Given the description of an element on the screen output the (x, y) to click on. 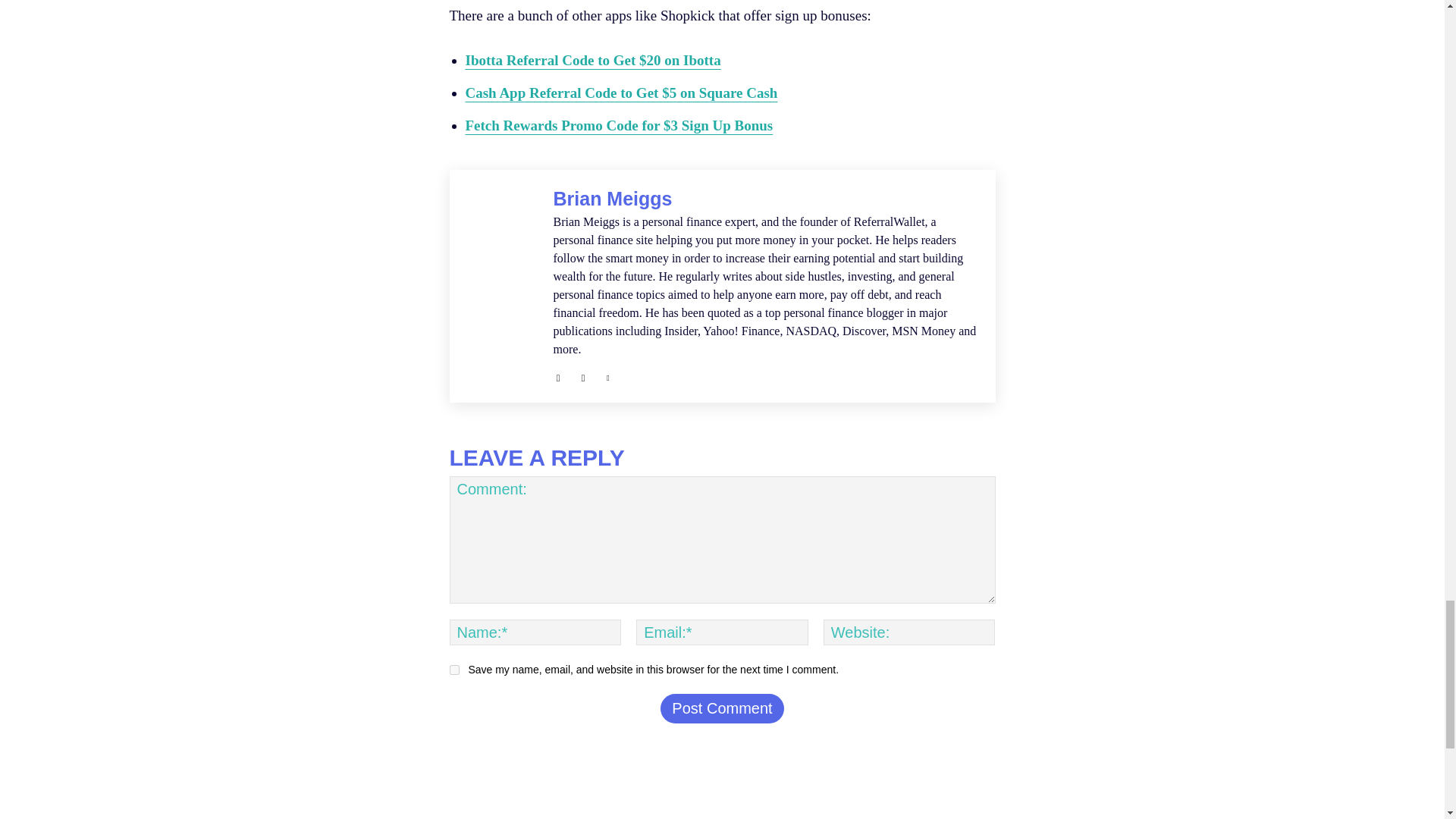
yes (453, 669)
Post Comment (722, 708)
Twitter (608, 374)
Facebook (558, 374)
Instagram (583, 374)
